Given the description of an element on the screen output the (x, y) to click on. 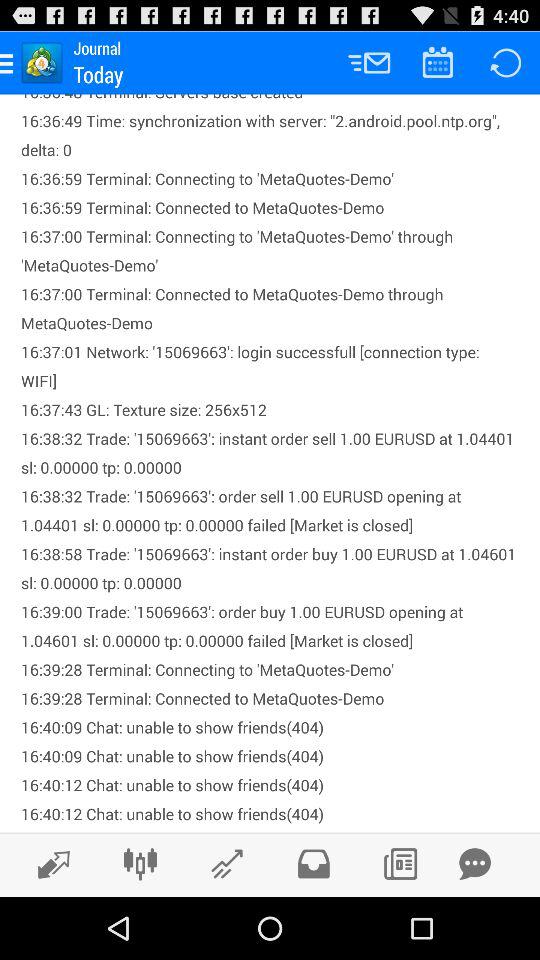
send as text (475, 864)
